Given the description of an element on the screen output the (x, y) to click on. 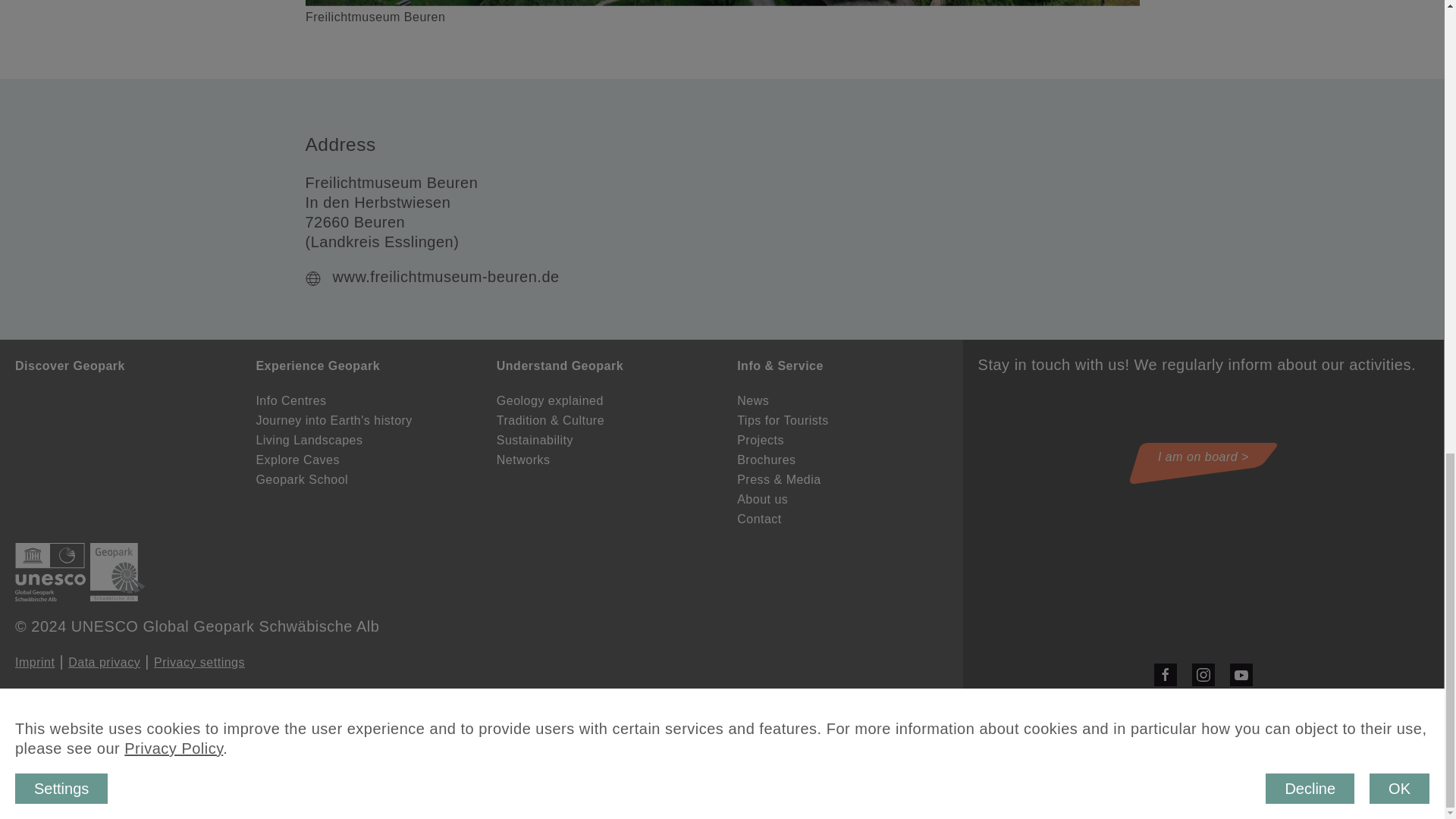
www.freilichtmuseum-beuren.de (446, 276)
Discover Geopark (69, 365)
